Given the description of an element on the screen output the (x, y) to click on. 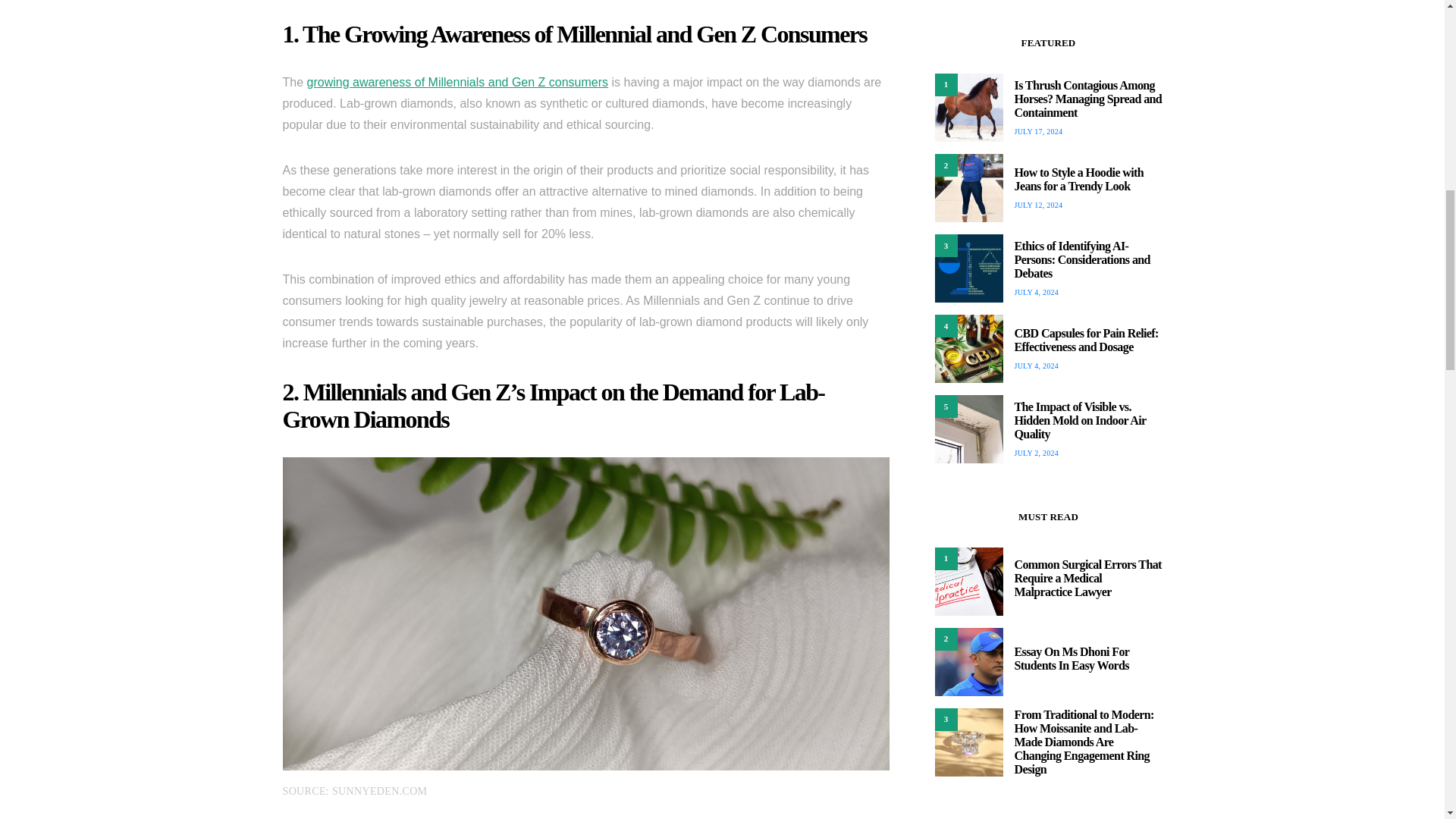
growing awareness of Millennials and Gen Z consumers (457, 82)
